Given the description of an element on the screen output the (x, y) to click on. 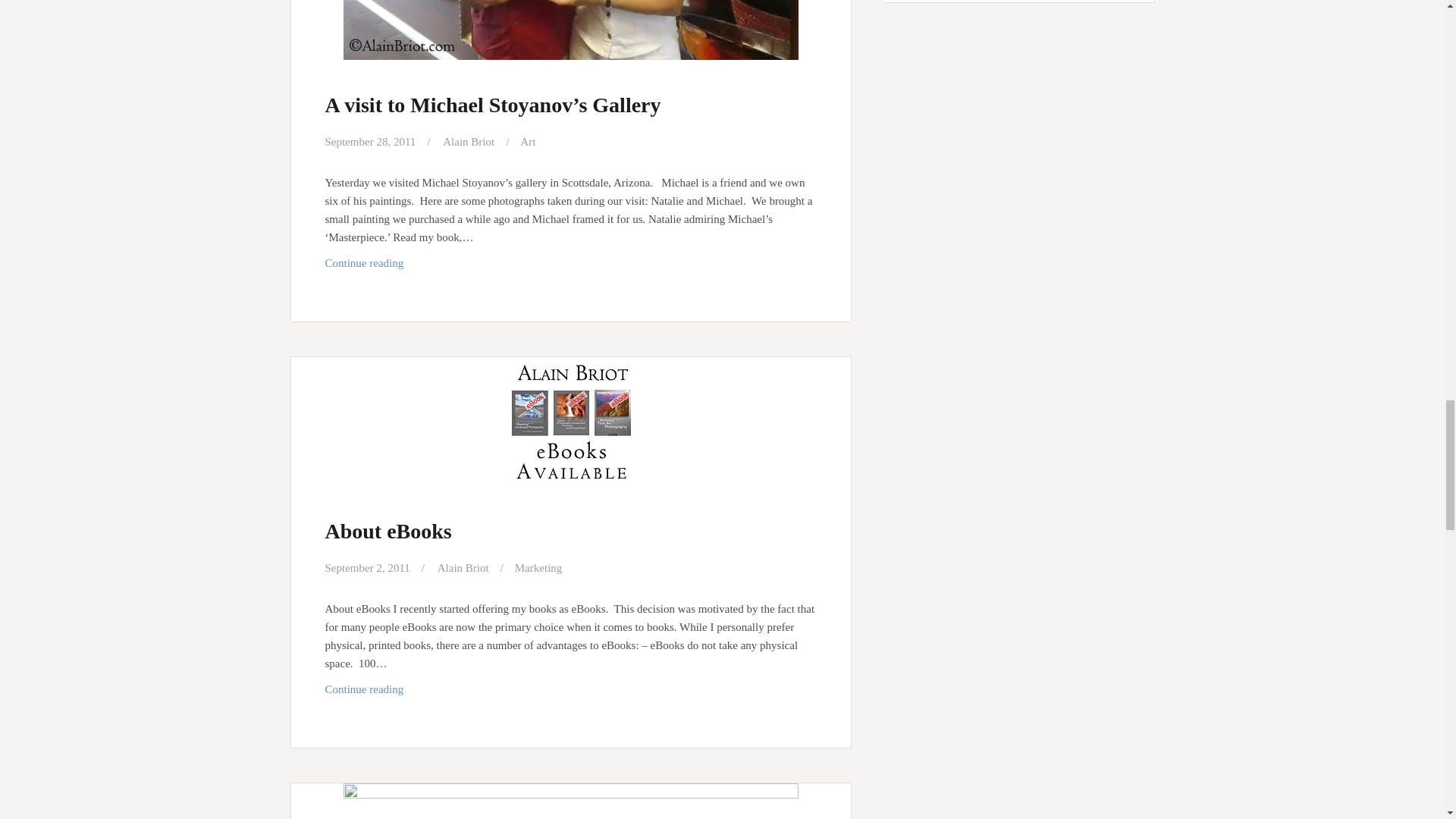
September 28, 2011 (369, 141)
Alain Briot (463, 567)
September 2, 2011 (366, 567)
About eBooks (387, 530)
Marketing (538, 567)
Alain Briot (468, 141)
Art (527, 141)
